Given the description of an element on the screen output the (x, y) to click on. 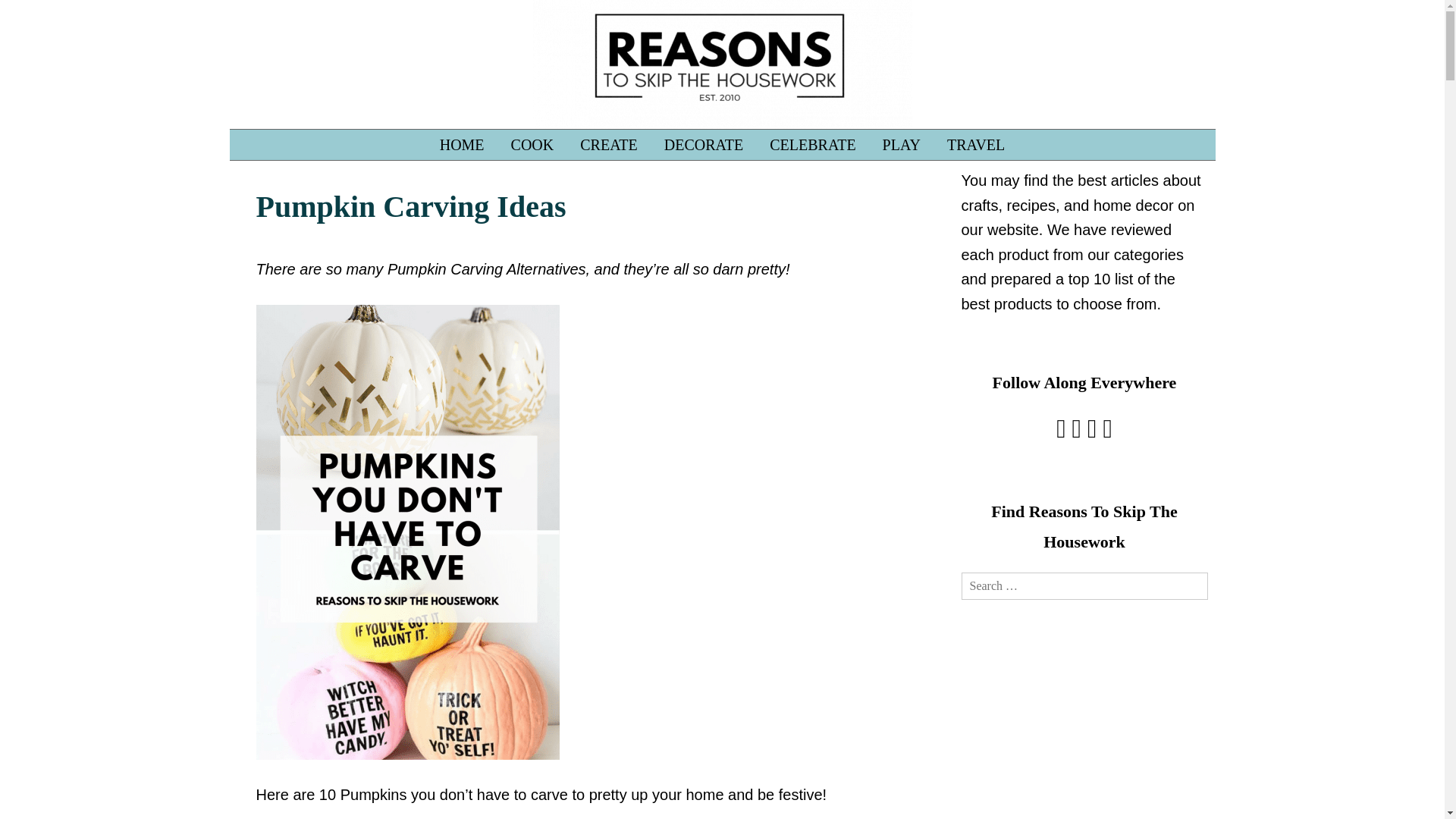
CELEBRATE (812, 144)
HOME (462, 144)
DECORATE (703, 144)
CREATE (609, 144)
PLAY (900, 144)
COOK (532, 144)
TRAVEL (976, 144)
SKIP TO CONTENT (266, 136)
